Given the description of an element on the screen output the (x, y) to click on. 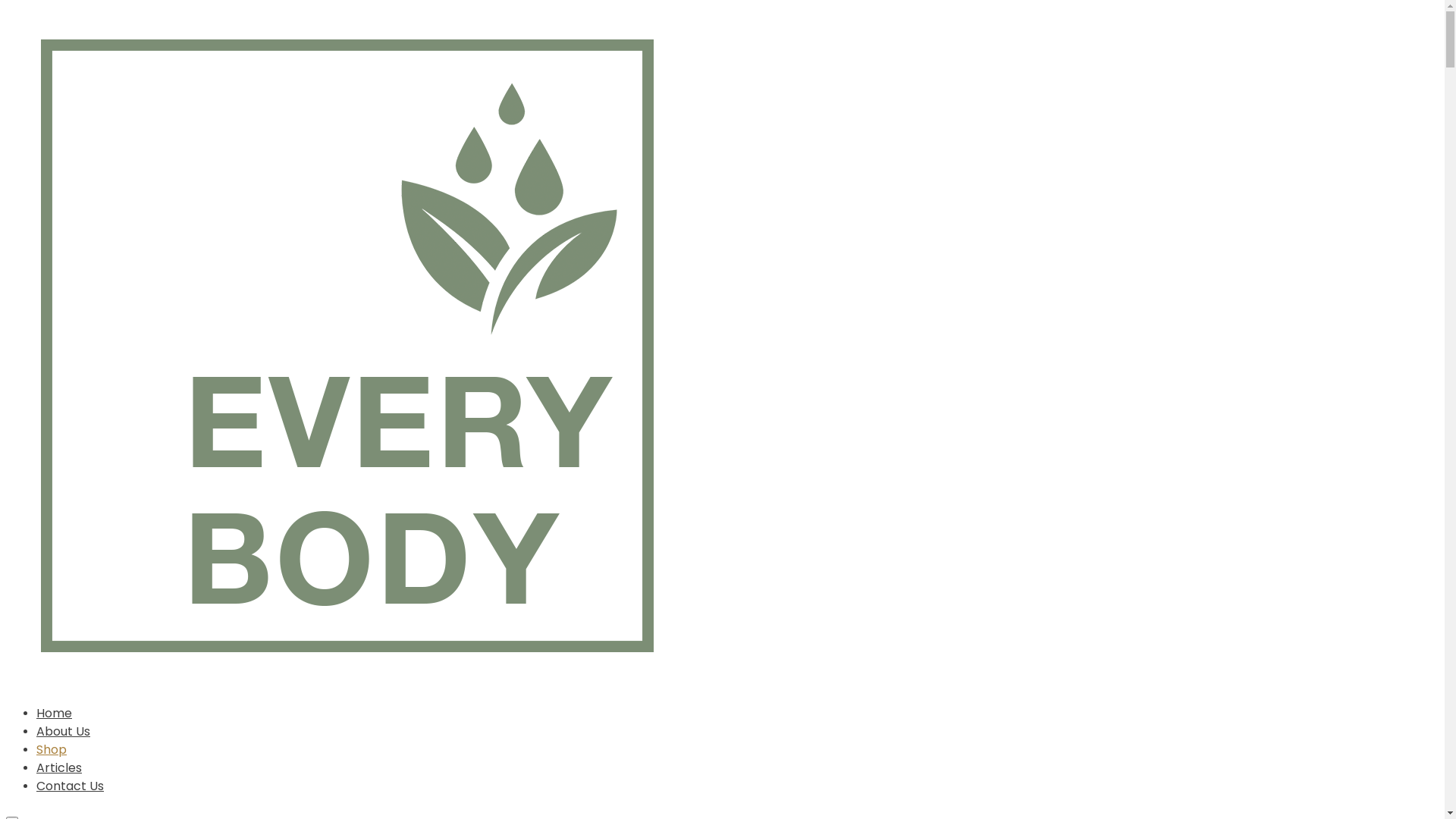
Home Element type: text (54, 712)
About Us Element type: text (63, 731)
Shop Element type: text (51, 749)
Articles Element type: text (58, 767)
Contact Us Element type: text (69, 785)
